Given the description of an element on the screen output the (x, y) to click on. 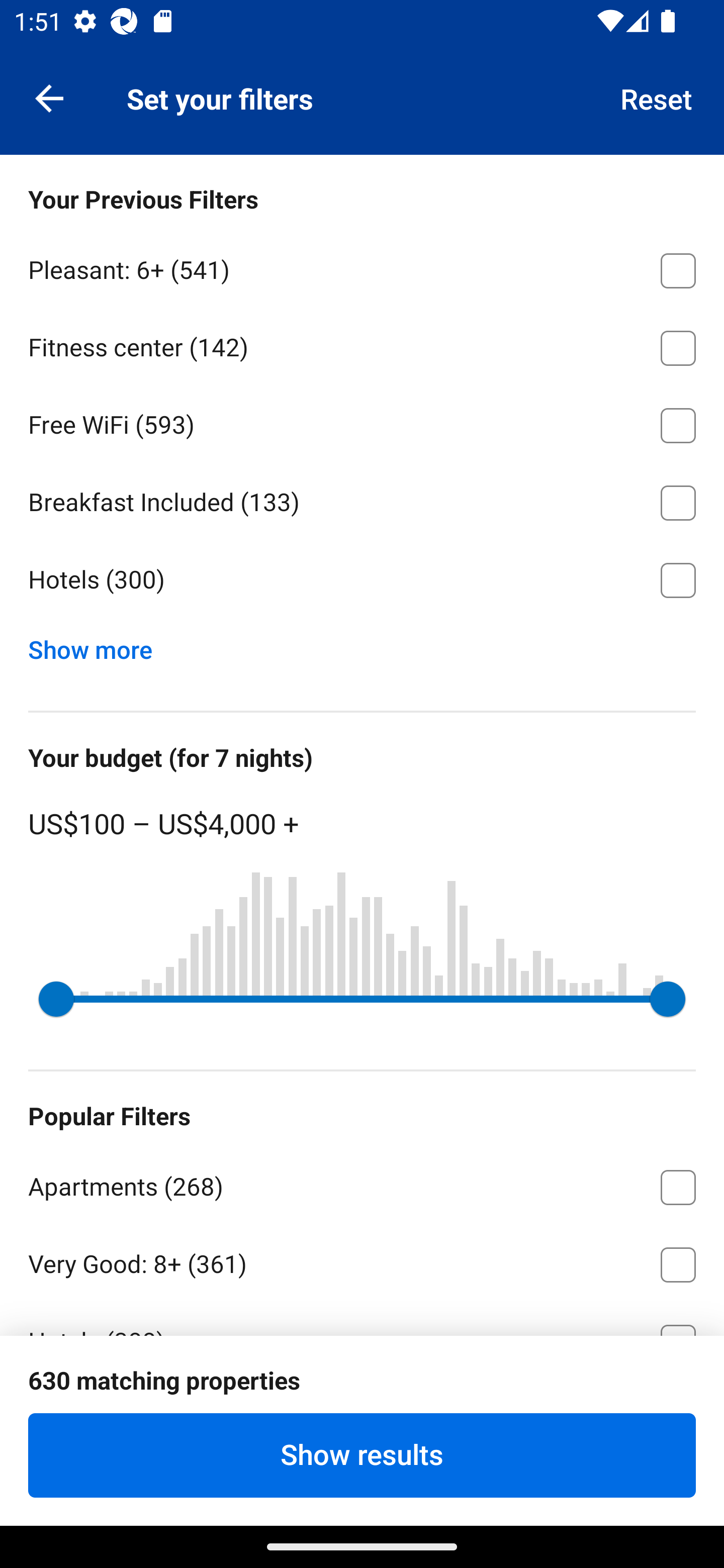
Navigate up (49, 97)
Reset (656, 97)
Pleasant: 6+ ⁦(541) (361, 266)
Fitness center ⁦(142) (361, 344)
Free WiFi ⁦(593) (361, 422)
Breakfast Included ⁦(133) (361, 498)
Hotels ⁦(300) (361, 579)
Show more (97, 645)
Apartments ⁦(268) (361, 1183)
Very Good: 8+ ⁦(361) (361, 1261)
Show results (361, 1454)
